Given the description of an element on the screen output the (x, y) to click on. 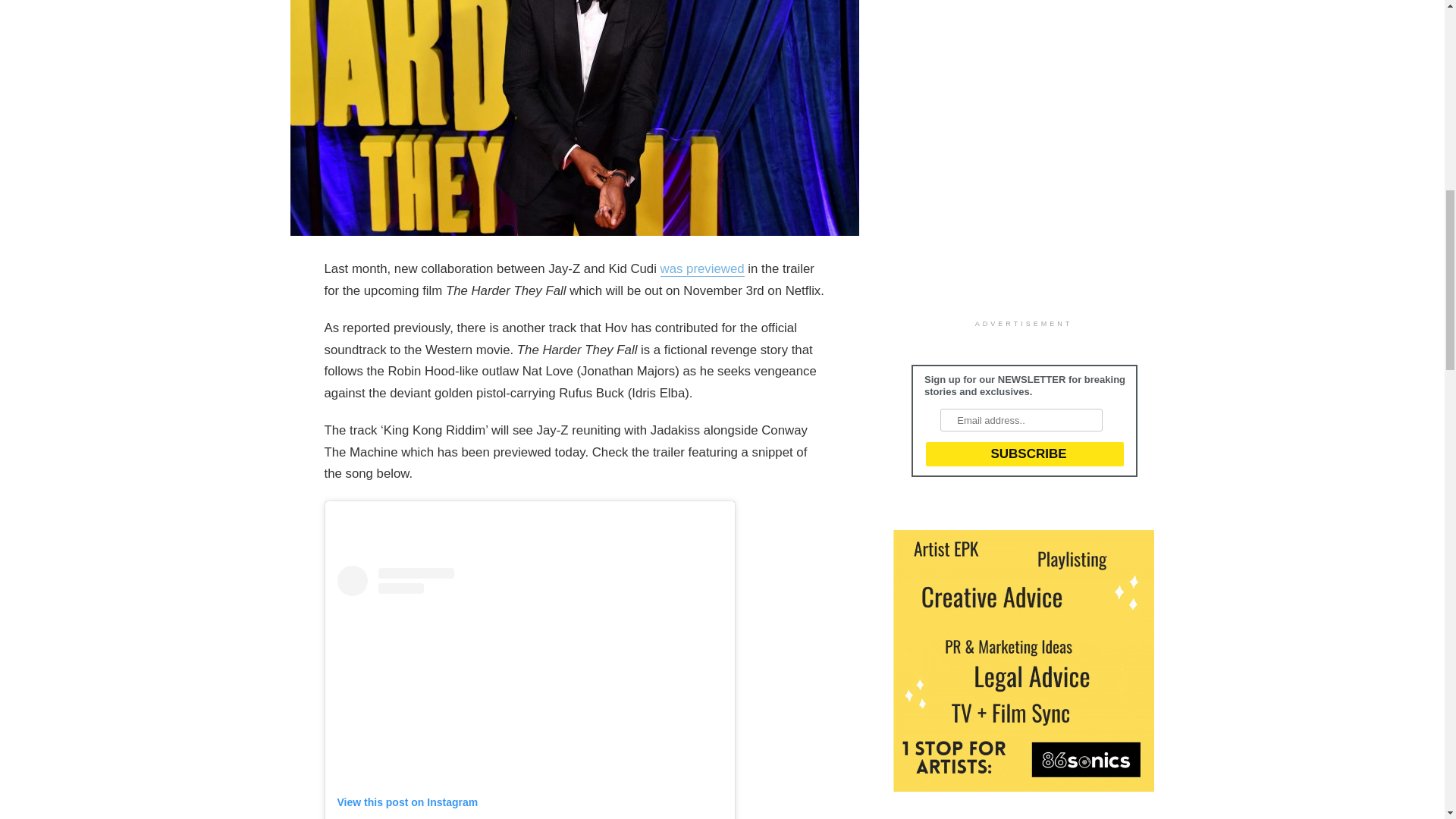
3rd party ad content (1007, 156)
